Given the description of an element on the screen output the (x, y) to click on. 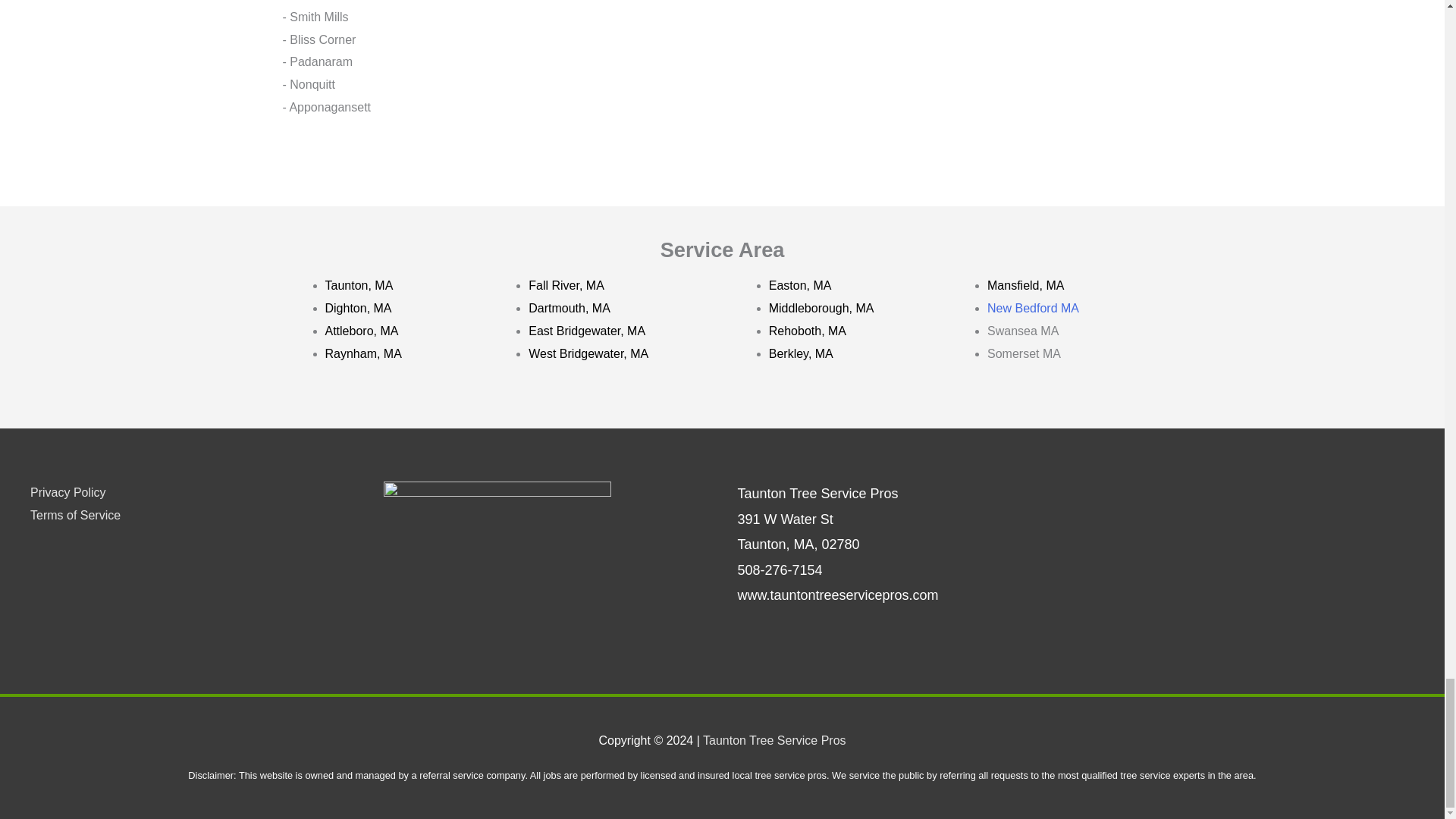
Dartmouth, MA (569, 308)
Fall River, MA (566, 285)
